Given the description of an element on the screen output the (x, y) to click on. 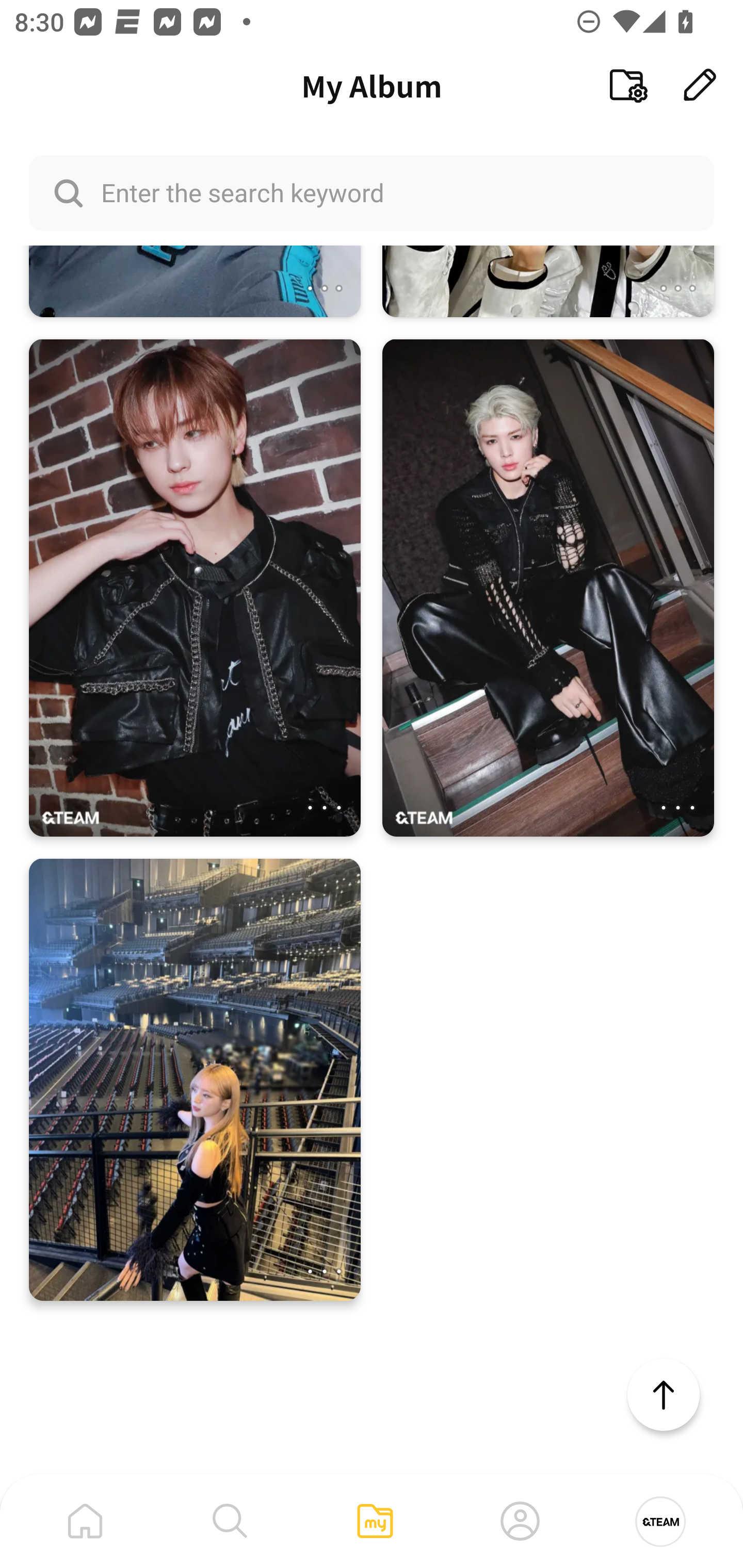
Enter the search keyword (371, 192)
